Given the description of an element on the screen output the (x, y) to click on. 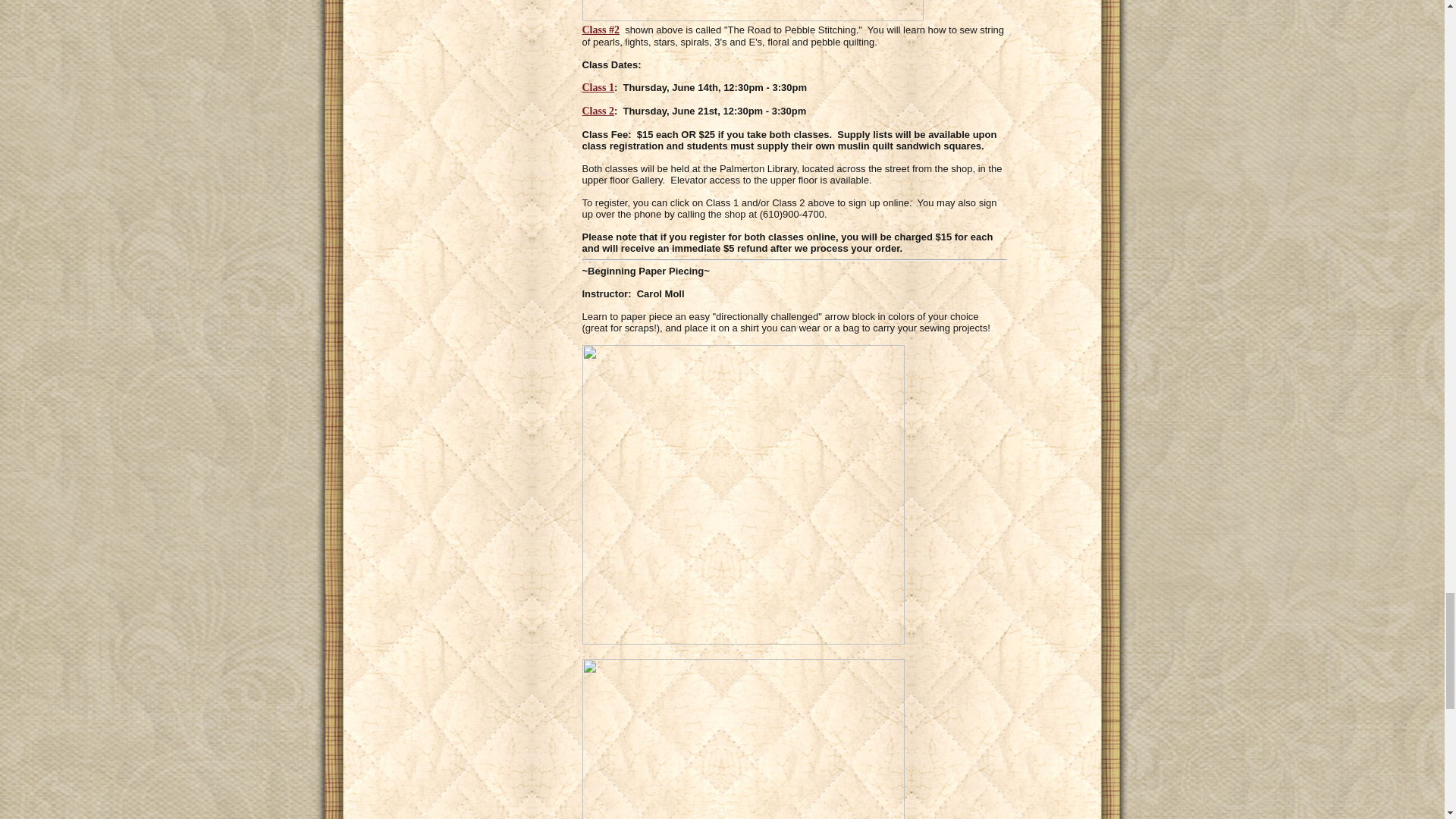
Class 2 (598, 111)
Class 1 (598, 87)
